Given the description of an element on the screen output the (x, y) to click on. 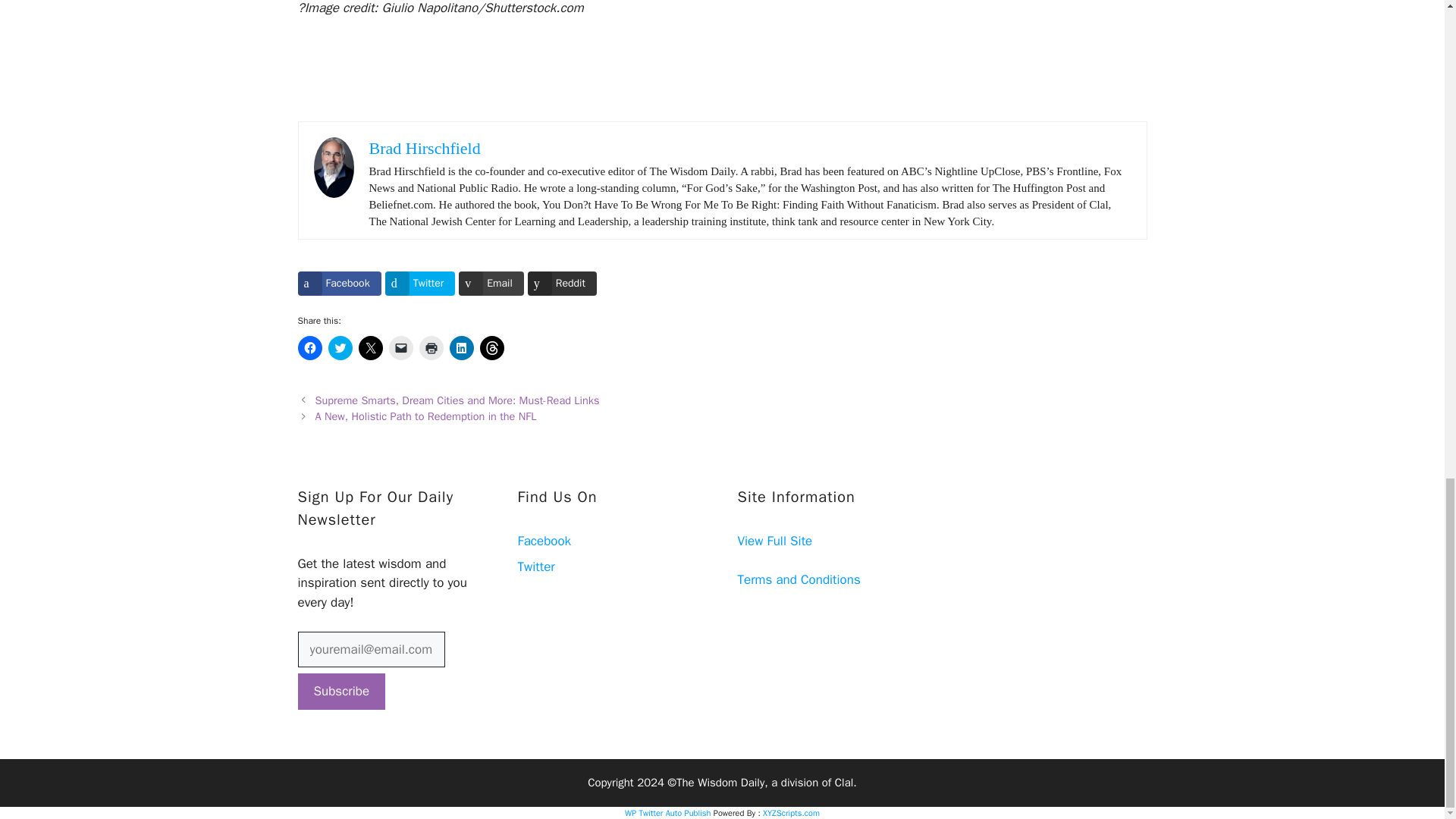
A New, Holistic Path to Redemption in the NFL (426, 416)
Subscribe (341, 691)
Twitter (535, 566)
Share on Reddit (561, 283)
Reddit (561, 283)
Brad Hirschfield (424, 148)
Subscribe (341, 691)
Email (491, 283)
Click to print (430, 347)
Share on Twitter (420, 283)
Facebook (338, 283)
Click to share on Twitter (339, 347)
Click to share on Facebook (309, 347)
Click to share on X (369, 347)
Share on Facebook (338, 283)
